Given the description of an element on the screen output the (x, y) to click on. 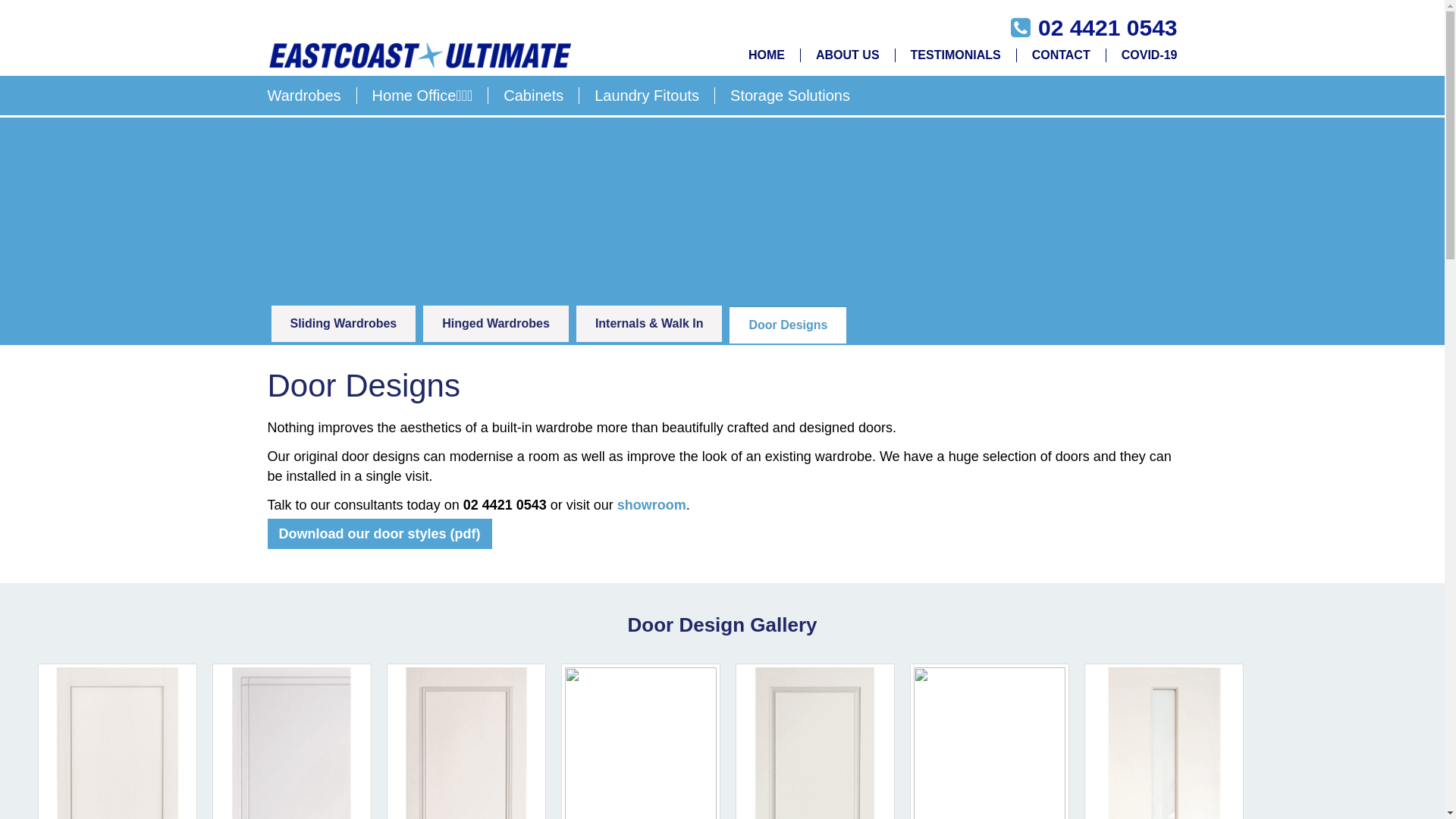
Laundry Fitouts Element type: text (647, 95)
Sliding Wardrobes Element type: text (343, 323)
Cabinets Element type: text (533, 95)
HOME Element type: text (766, 55)
02 4421 0543 Element type: text (1107, 27)
Wardrobes Element type: text (311, 95)
showroom Element type: text (651, 504)
Storage Solutions Element type: text (782, 95)
COVID-19 Element type: text (1141, 55)
TESTIMONIALS Element type: text (955, 55)
Door Designs Element type: text (787, 324)
Download our door styles (pdf) Element type: text (378, 533)
ABOUT US Element type: text (847, 55)
Internals & Walk In Element type: text (649, 323)
Hinged Wardrobes Element type: text (495, 323)
CONTACT Element type: text (1061, 55)
